Given the description of an element on the screen output the (x, y) to click on. 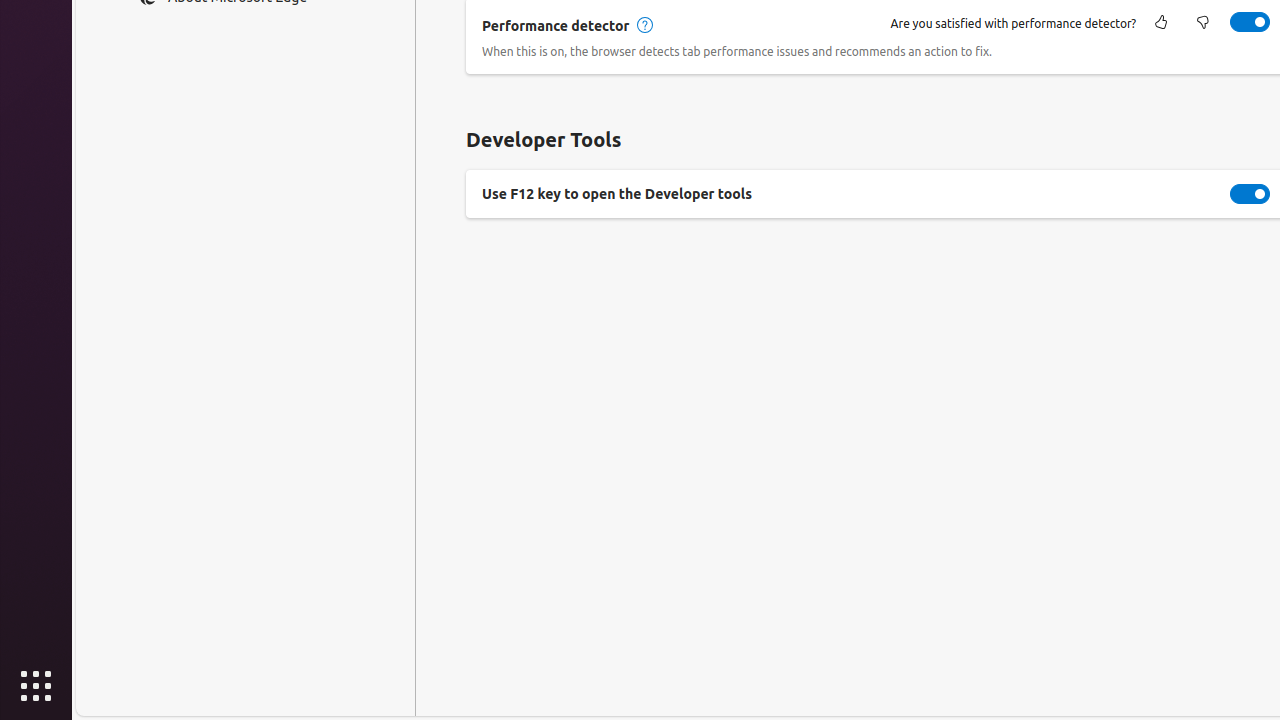
Performance detector Element type: check-box (1250, 22)
Use F12 key to open the Developer tools Element type: check-box (1250, 194)
Performance detector, learn more Element type: push-button (643, 26)
Dislike Element type: toggle-button (1203, 24)
Like Element type: toggle-button (1161, 24)
